Given the description of an element on the screen output the (x, y) to click on. 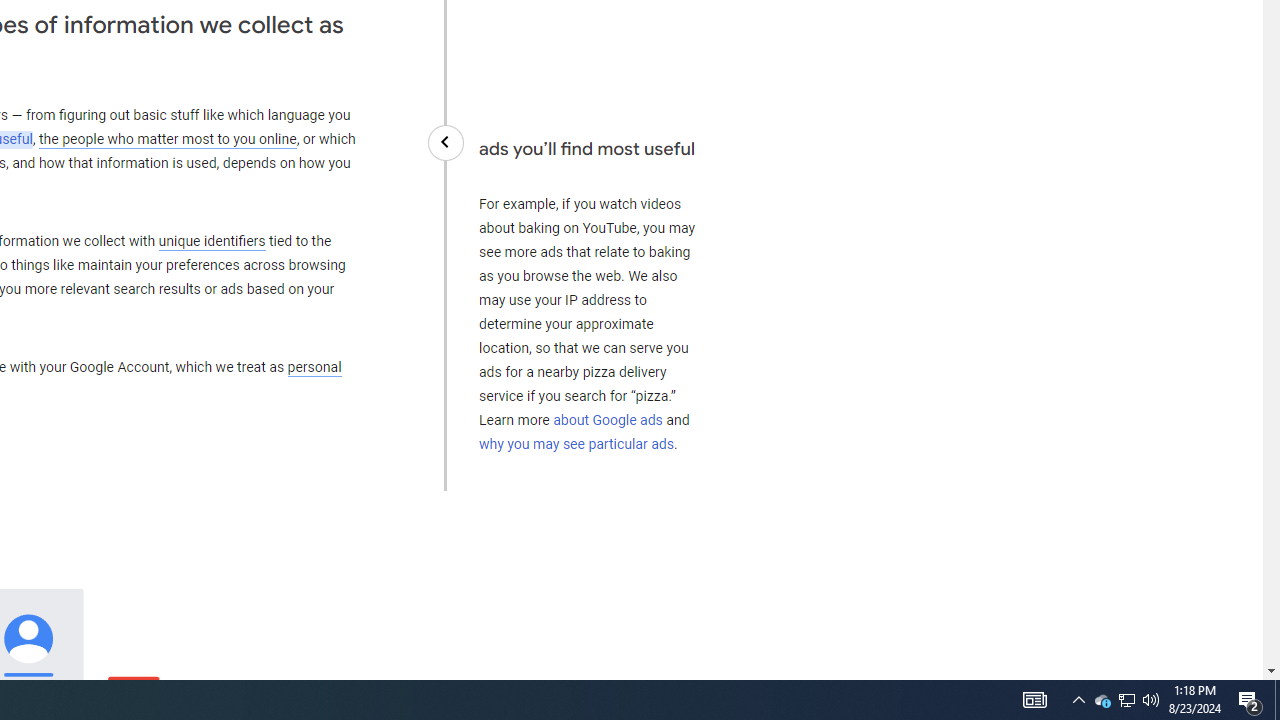
about Google ads (607, 420)
the people who matter most to you online (167, 139)
unique identifiers (211, 241)
why you may see particular ads (576, 443)
